Given the description of an element on the screen output the (x, y) to click on. 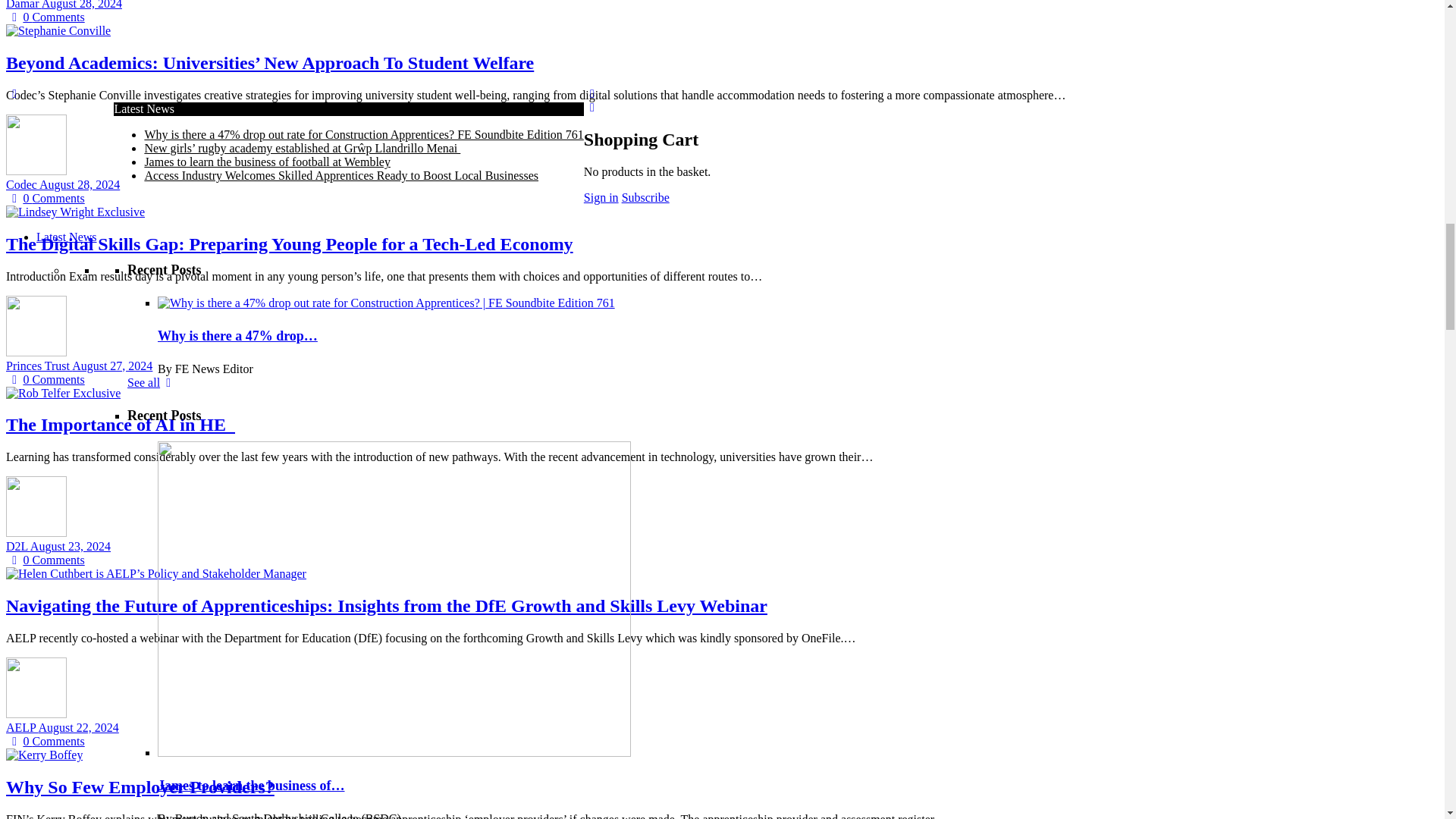
See all (152, 77)
See all (152, 222)
